Given the description of an element on the screen output the (x, y) to click on. 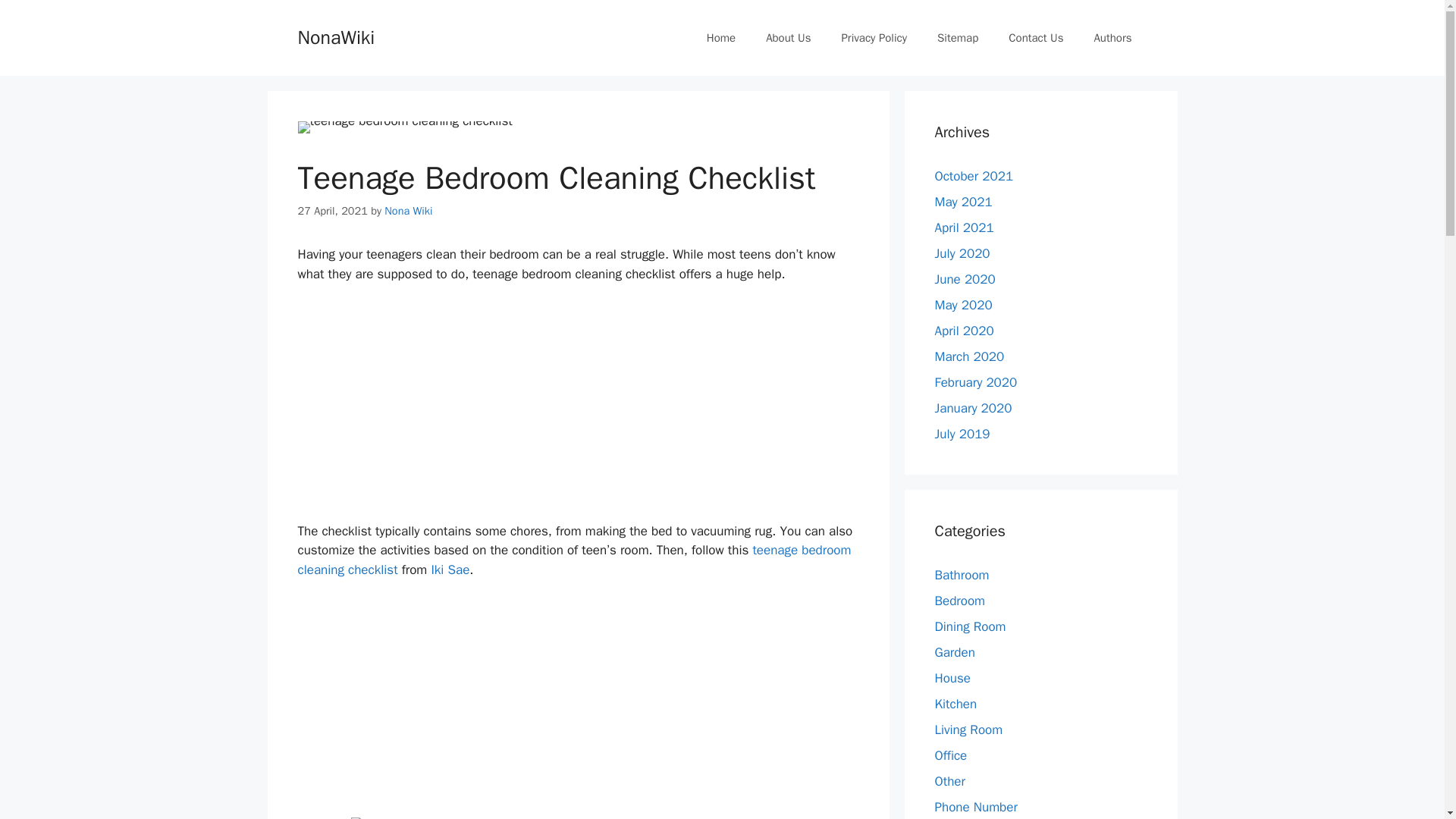
June 2020 (964, 279)
Dining Room (970, 626)
Privacy Policy (873, 37)
Sitemap (956, 37)
Phone Number (975, 806)
Nona Wiki (408, 210)
Advertisement (578, 704)
Other (948, 781)
April 2021 (963, 227)
Kitchen (955, 703)
About Us (788, 37)
NonaWiki (335, 37)
July 2019 (962, 433)
Authors (1112, 37)
October 2021 (973, 176)
